Given the description of an element on the screen output the (x, y) to click on. 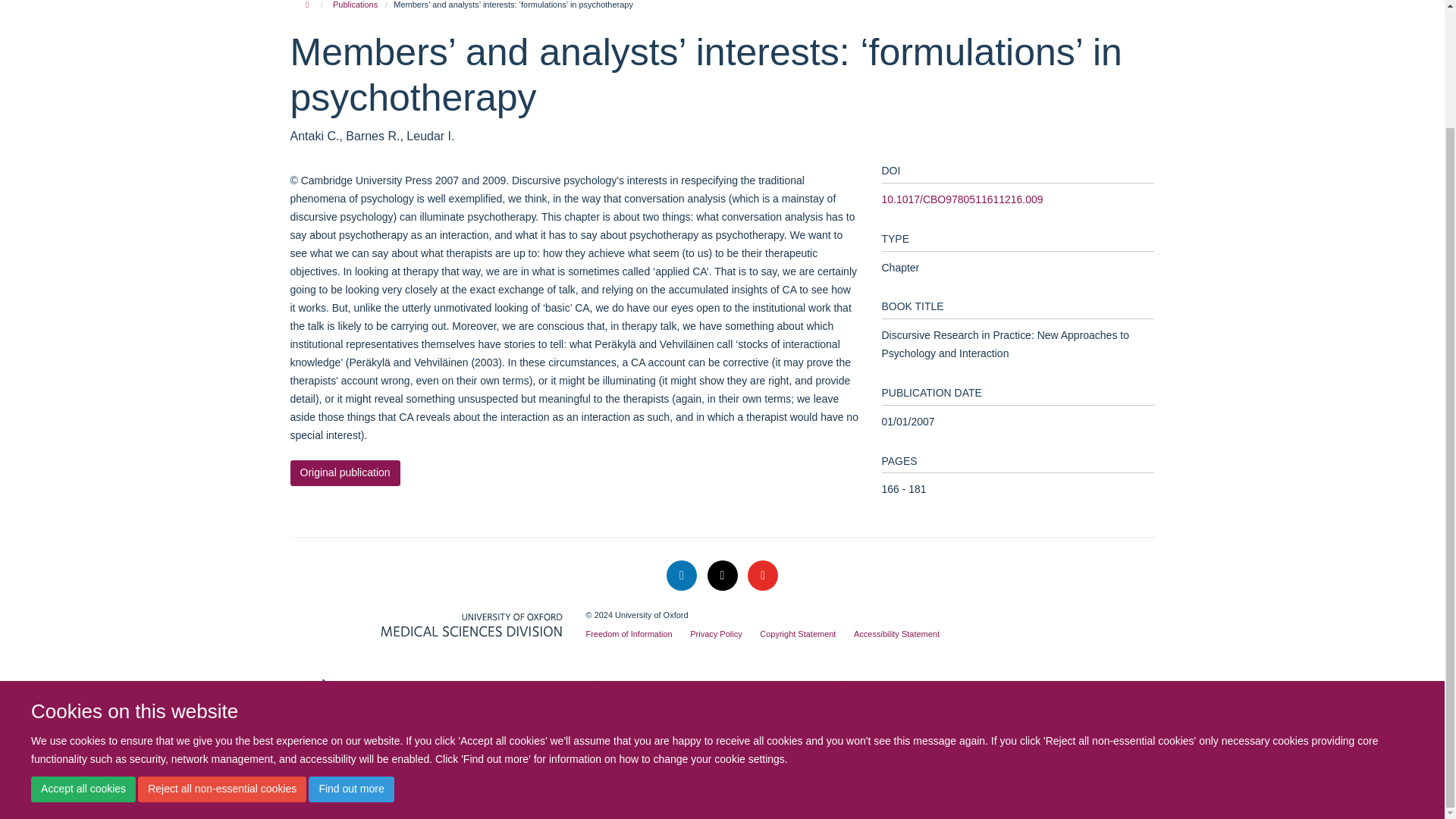
Reject all non-essential cookies (221, 648)
Find out more (350, 648)
Accept all cookies (82, 648)
